Given the description of an element on the screen output the (x, y) to click on. 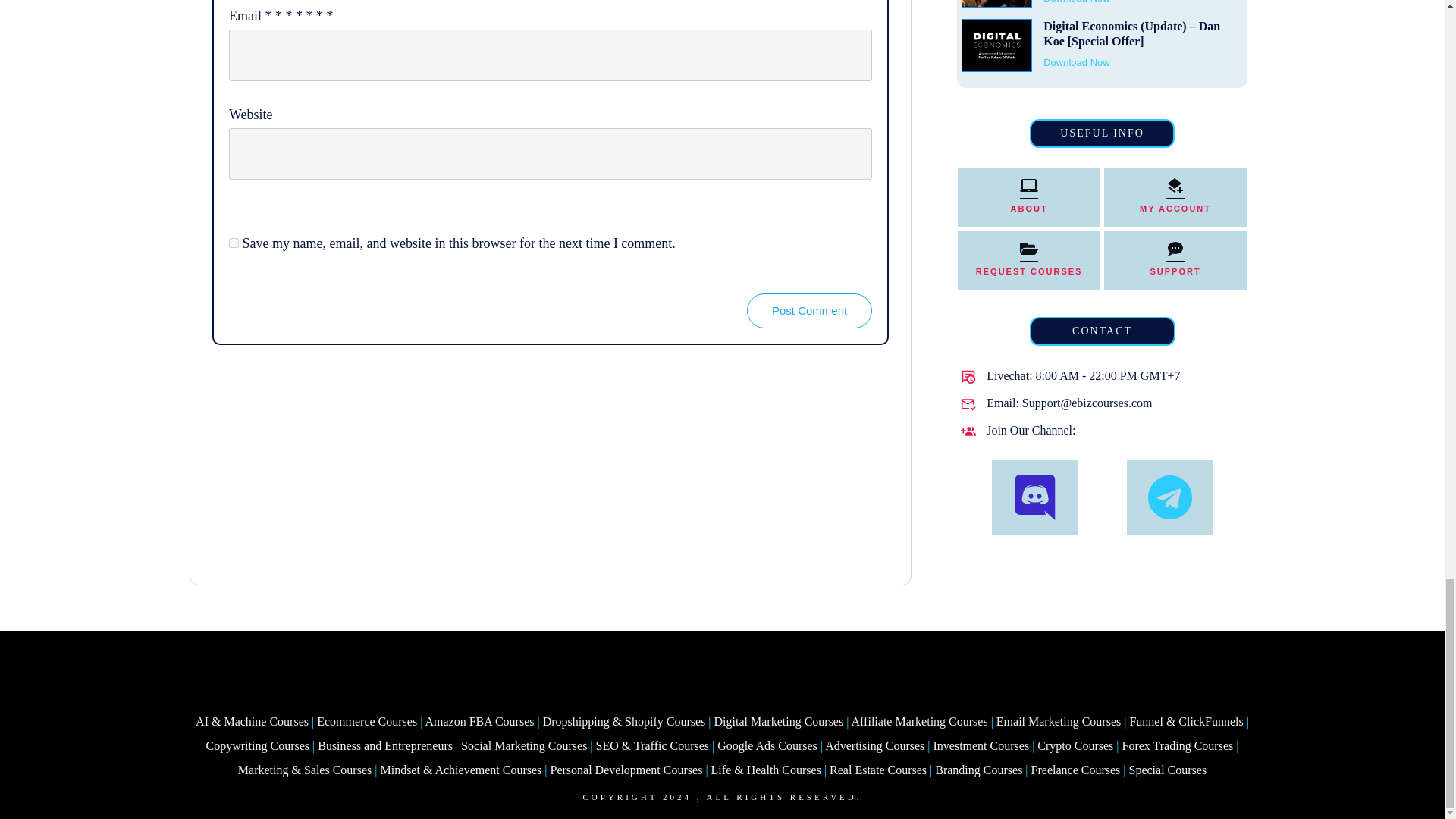
yes (233, 243)
